Given the description of an element on the screen output the (x, y) to click on. 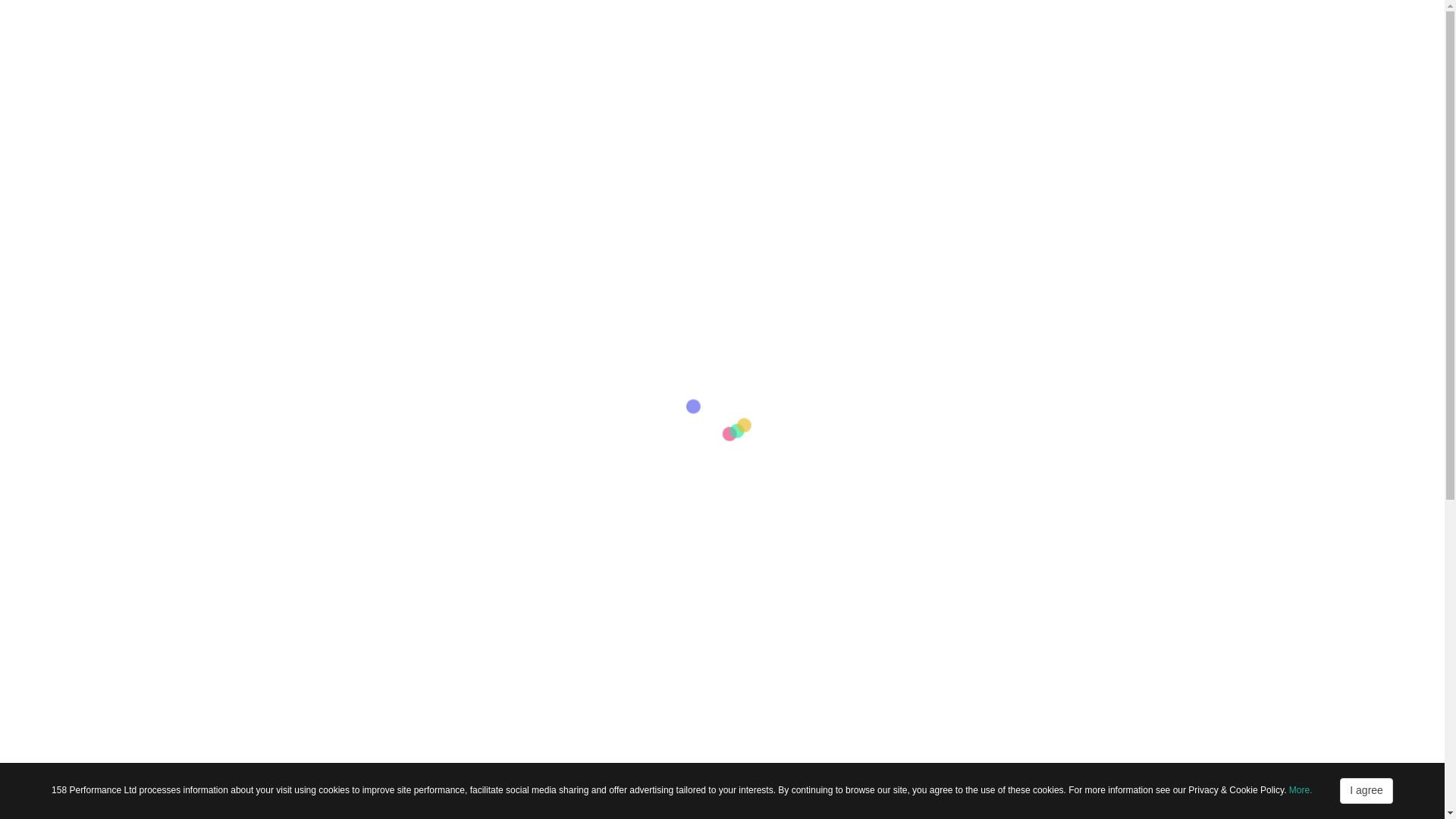
Delivery (1231, 9)
I agree (1366, 790)
SEA-DOO (578, 58)
How To Order (1170, 9)
ON-ROAD (498, 58)
More. (1300, 789)
SHOP (645, 58)
LAKE (699, 58)
OFF-ROAD (415, 58)
Pre-Owned (1011, 9)
Customer Services (1088, 9)
